Given the description of an element on the screen output the (x, y) to click on. 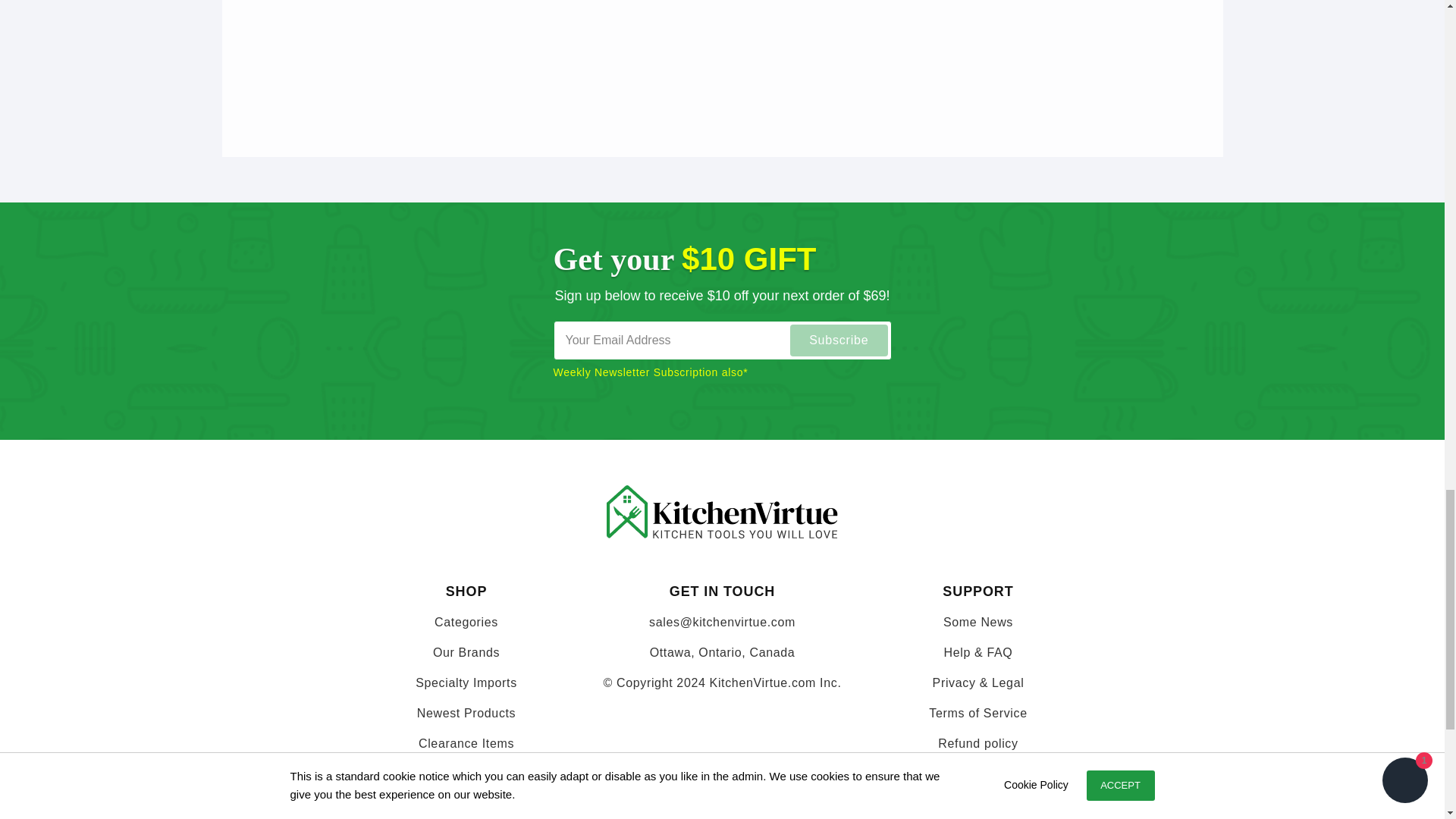
Subscribe (838, 340)
